Given the description of an element on the screen output the (x, y) to click on. 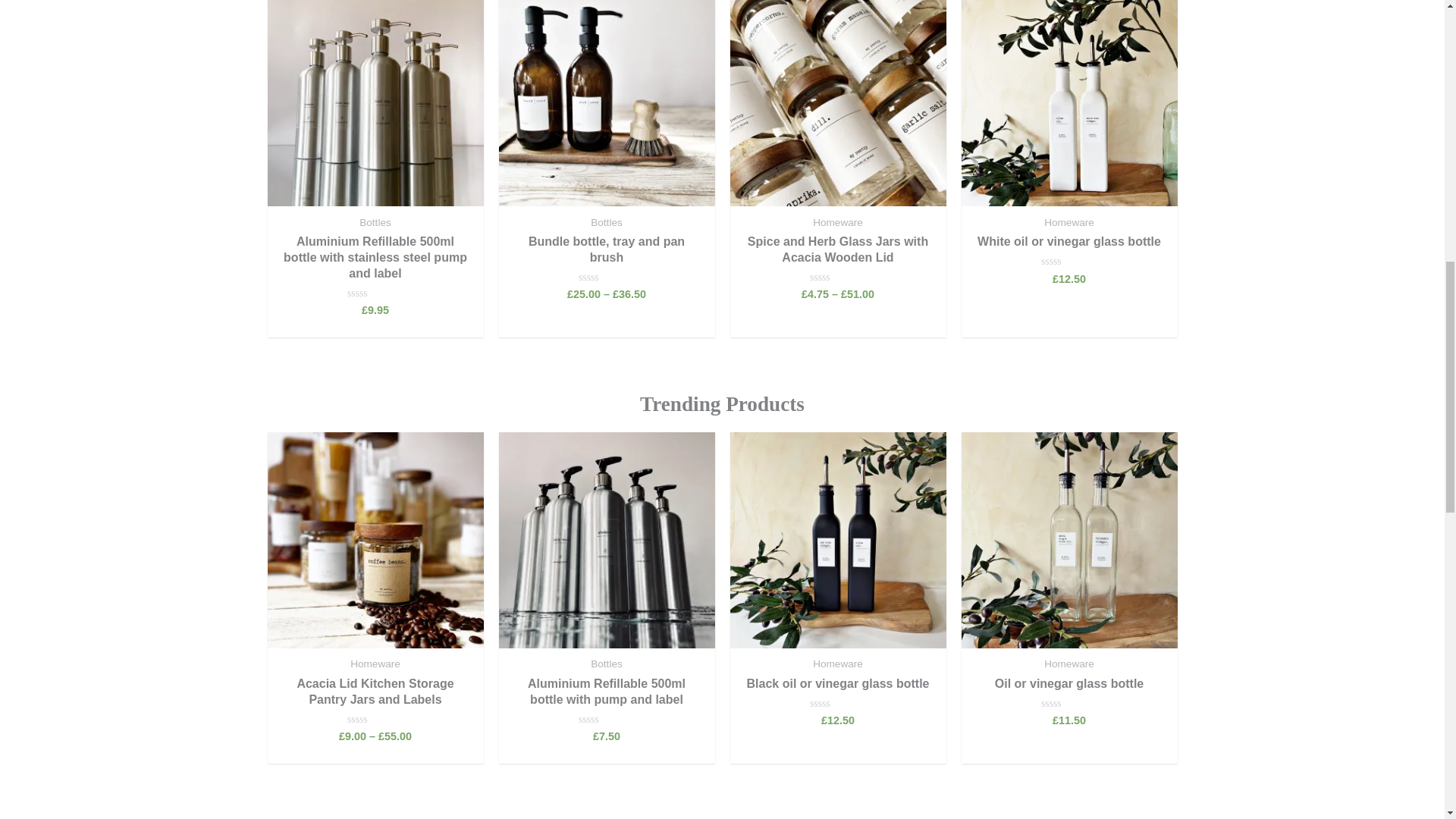
Bundle bottle, tray and pan brush (606, 250)
Aluminium Refillable 500ml bottle with pump and label (606, 692)
Acacia Lid Kitchen Storage Pantry Jars and Labels (375, 692)
White oil or vinegar glass bottle (1069, 242)
Spice and Herb Glass Jars with Acacia Wooden Lid (837, 250)
